Given the description of an element on the screen output the (x, y) to click on. 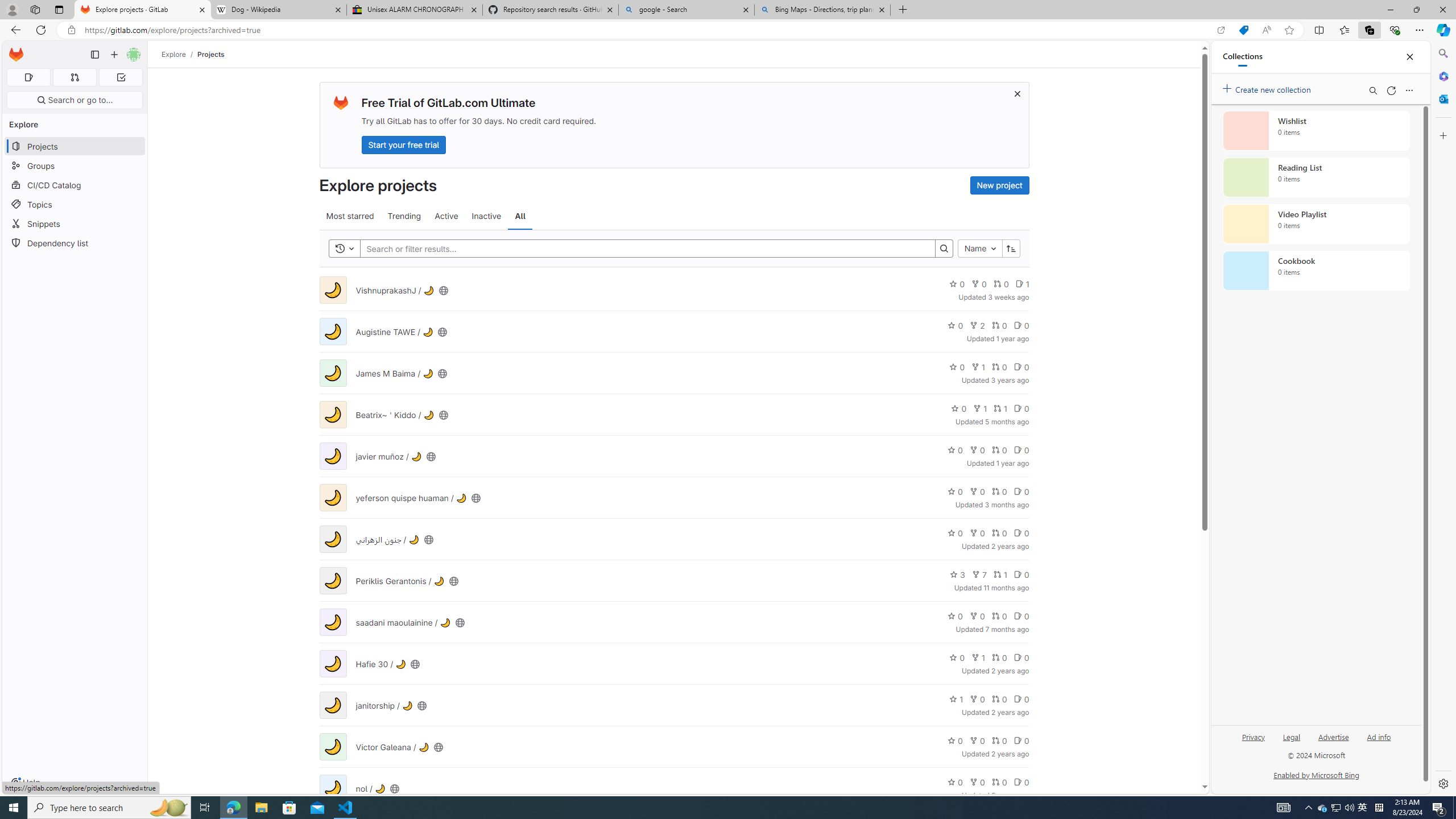
Create new... (113, 54)
Cookbook collection, 0 items (1316, 270)
Create new collection (1268, 87)
Groups (74, 165)
Projects (211, 53)
0 (1021, 781)
